Given the description of an element on the screen output the (x, y) to click on. 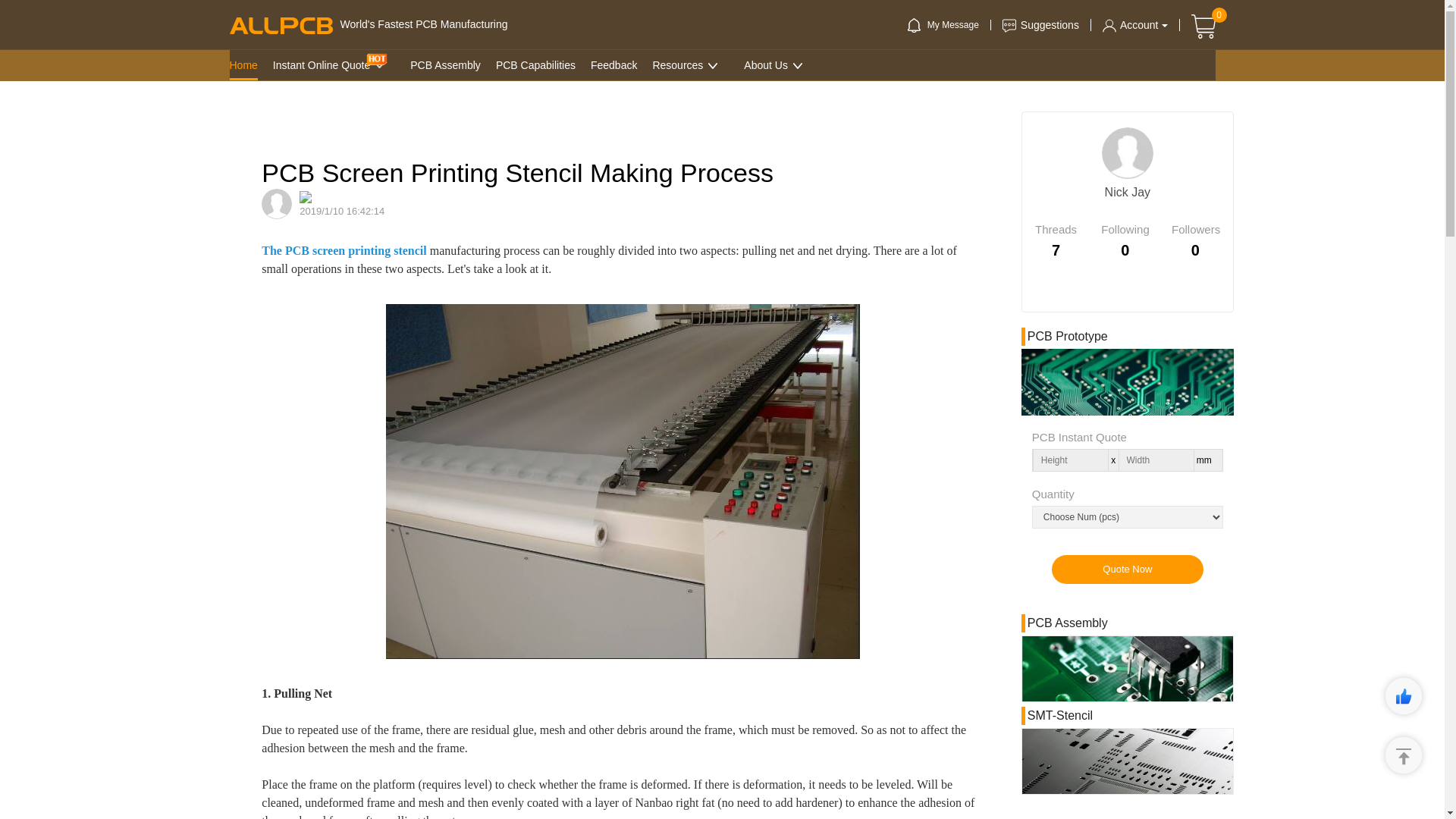
PCB Assembly (445, 64)
About Us (765, 64)
Feedback (614, 64)
Instant Online Quote (321, 64)
Resources (677, 64)
Suggestions (1040, 24)
Home (242, 64)
World's Fastest PCB Manufacturing (367, 24)
0 (1202, 25)
My Message (943, 24)
